Given the description of an element on the screen output the (x, y) to click on. 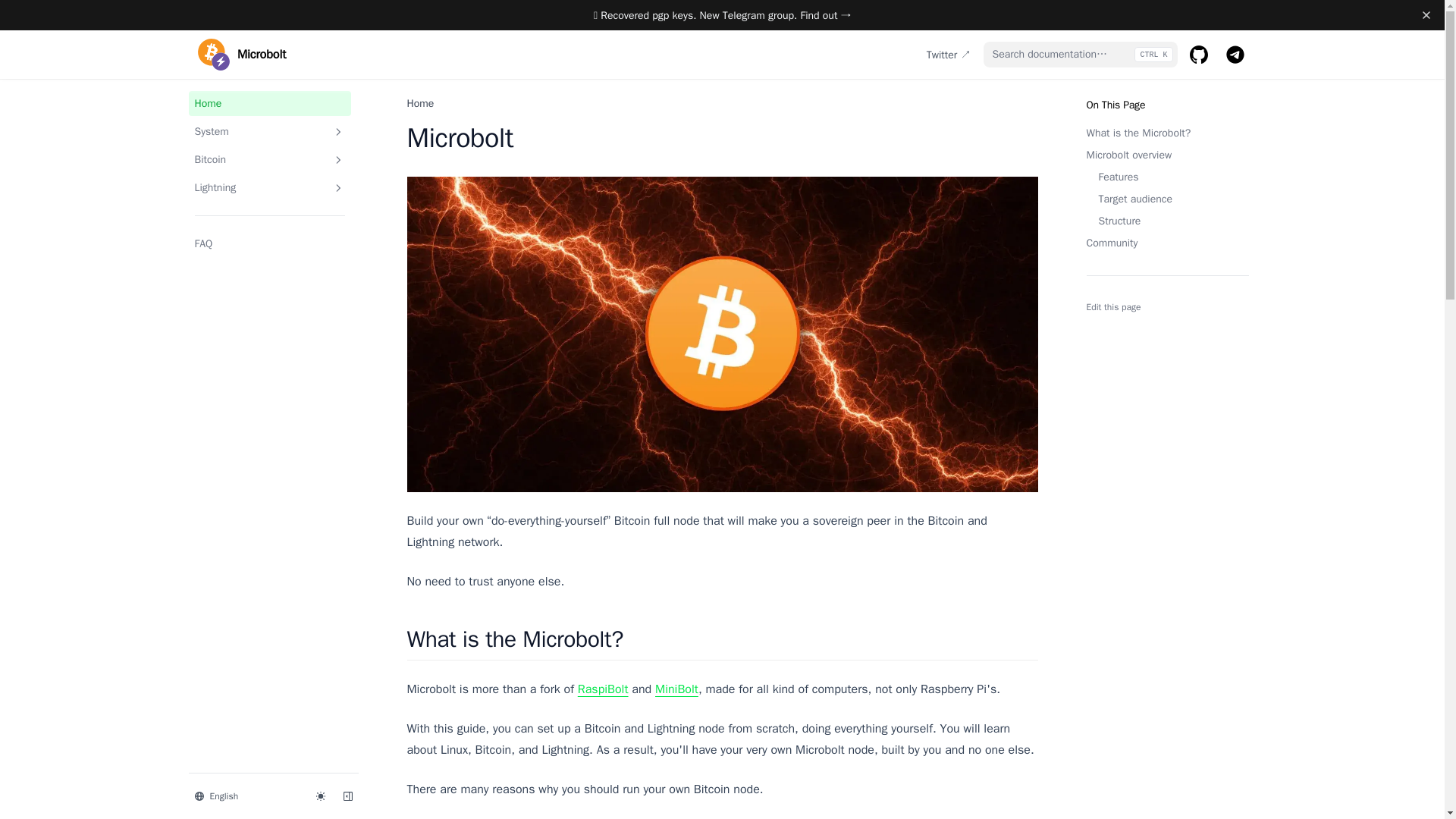
FAQ (268, 243)
Features (1166, 176)
Features (1166, 176)
Home (419, 103)
Structure (1166, 220)
Structure (1166, 220)
Change theme (319, 795)
What is the Microbolt? (1166, 132)
Target audience (1166, 198)
English (244, 795)
